Given the description of an element on the screen output the (x, y) to click on. 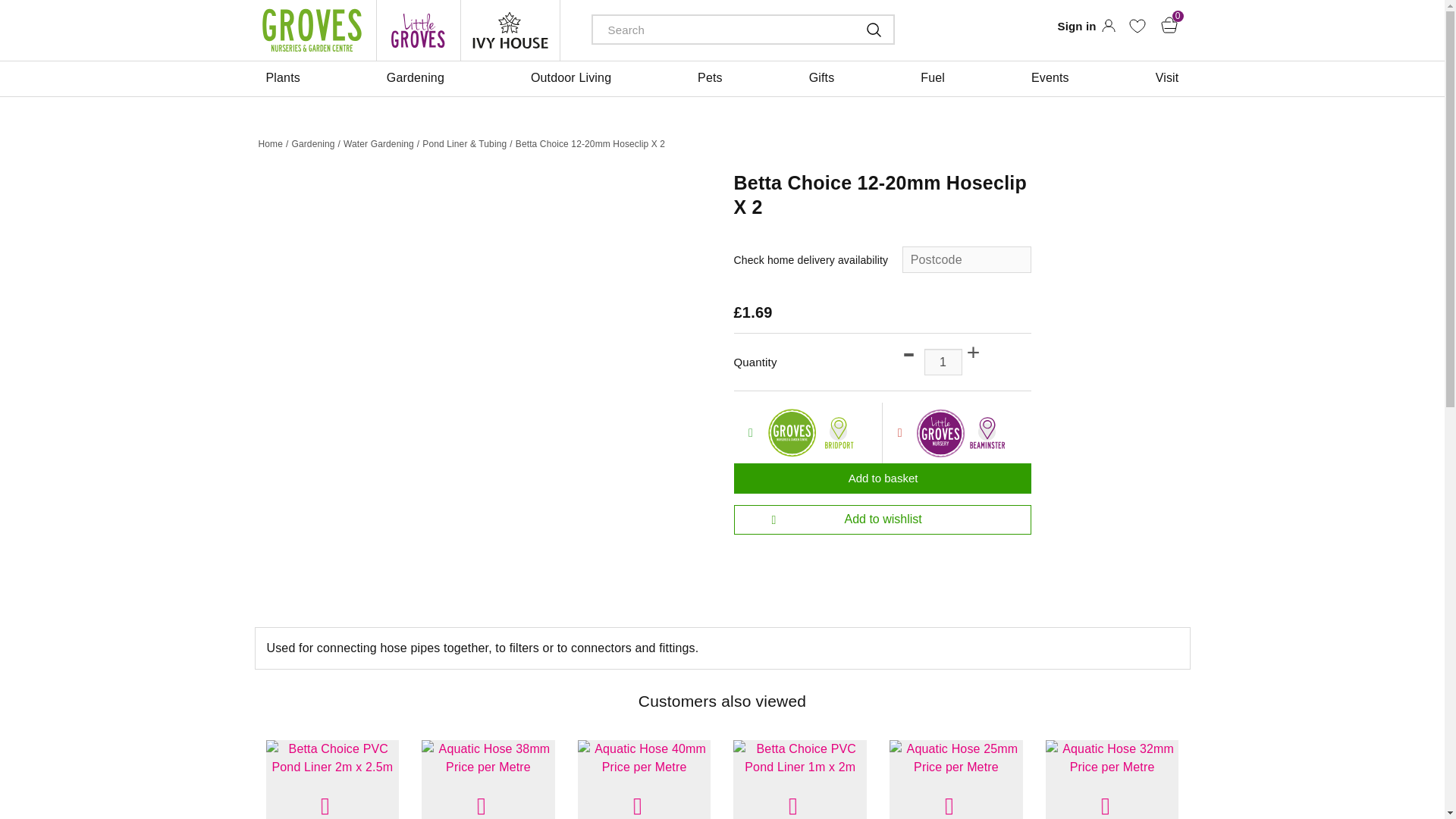
Water Gardening (378, 143)
Add to basket (881, 478)
ivy house (509, 30)
1 (943, 361)
Add to wishlist (881, 519)
litte groves (418, 30)
Home (269, 143)
Search (862, 29)
Gardening (312, 143)
